Given the description of an element on the screen output the (x, y) to click on. 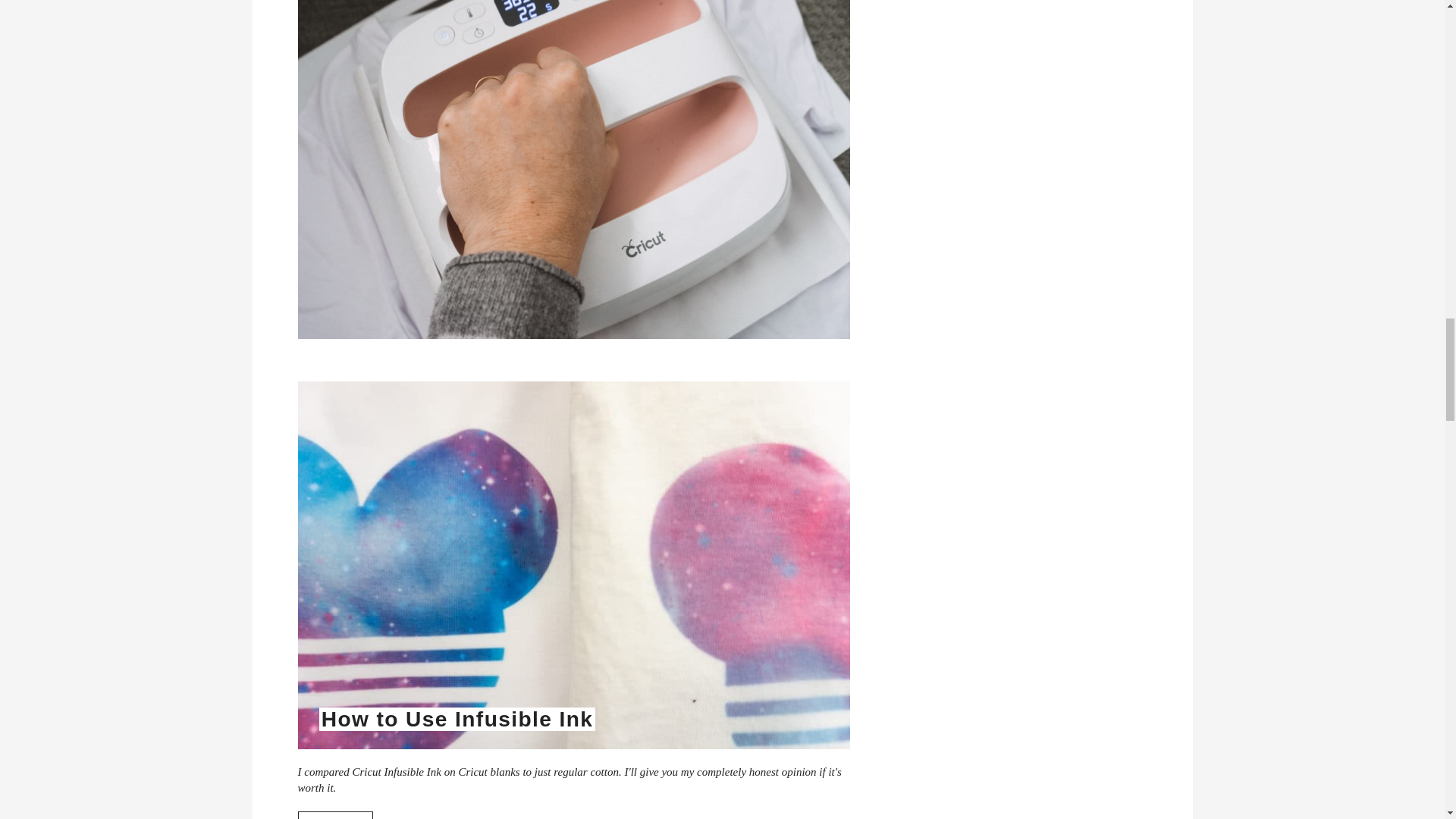
PRINT (334, 815)
